Given the description of an element on the screen output the (x, y) to click on. 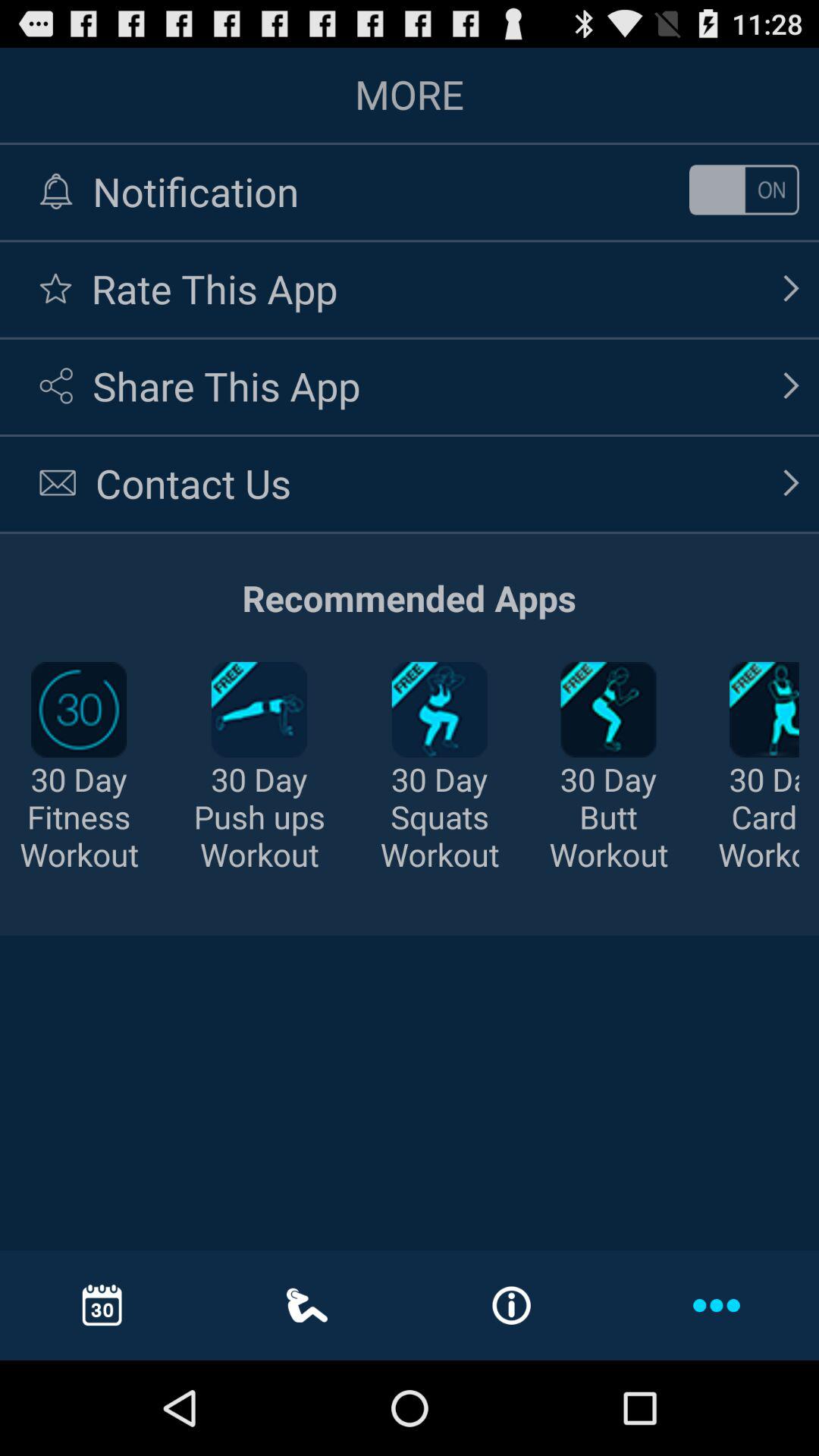
press the icon next to notification app (744, 189)
